Given the description of an element on the screen output the (x, y) to click on. 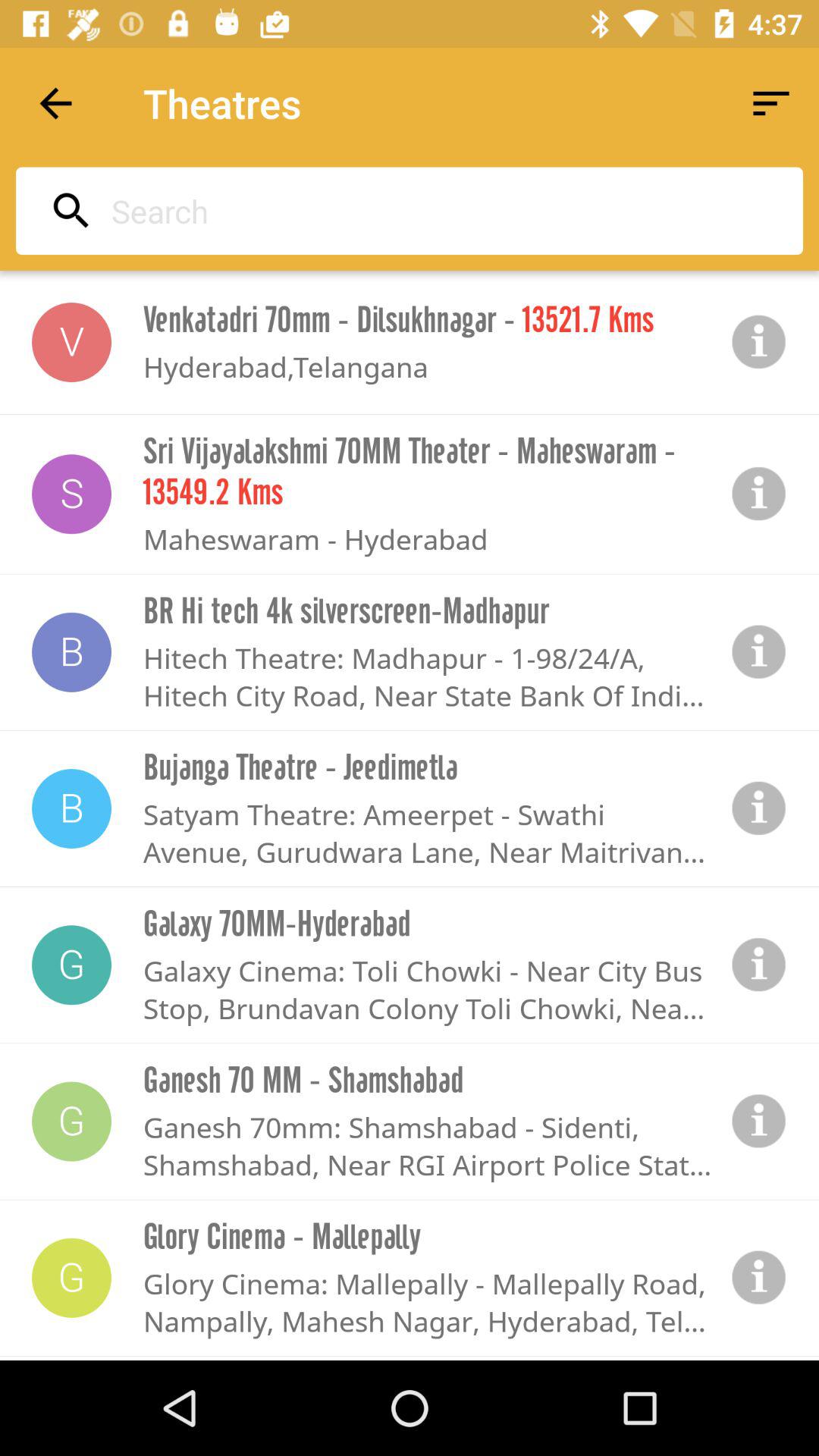
information button (759, 342)
